Given the description of an element on the screen output the (x, y) to click on. 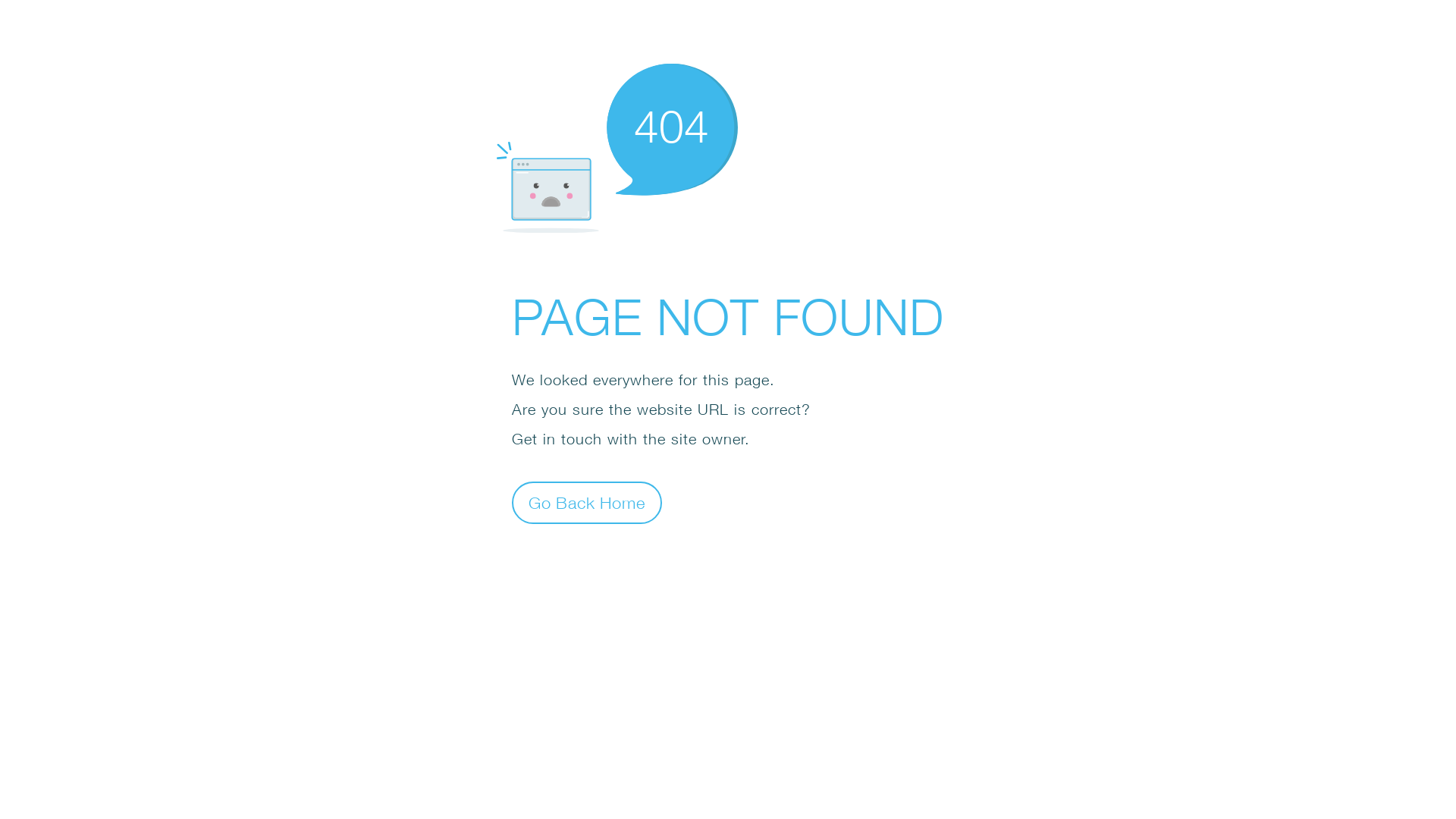
Go Back Home Element type: text (586, 502)
